Given the description of an element on the screen output the (x, y) to click on. 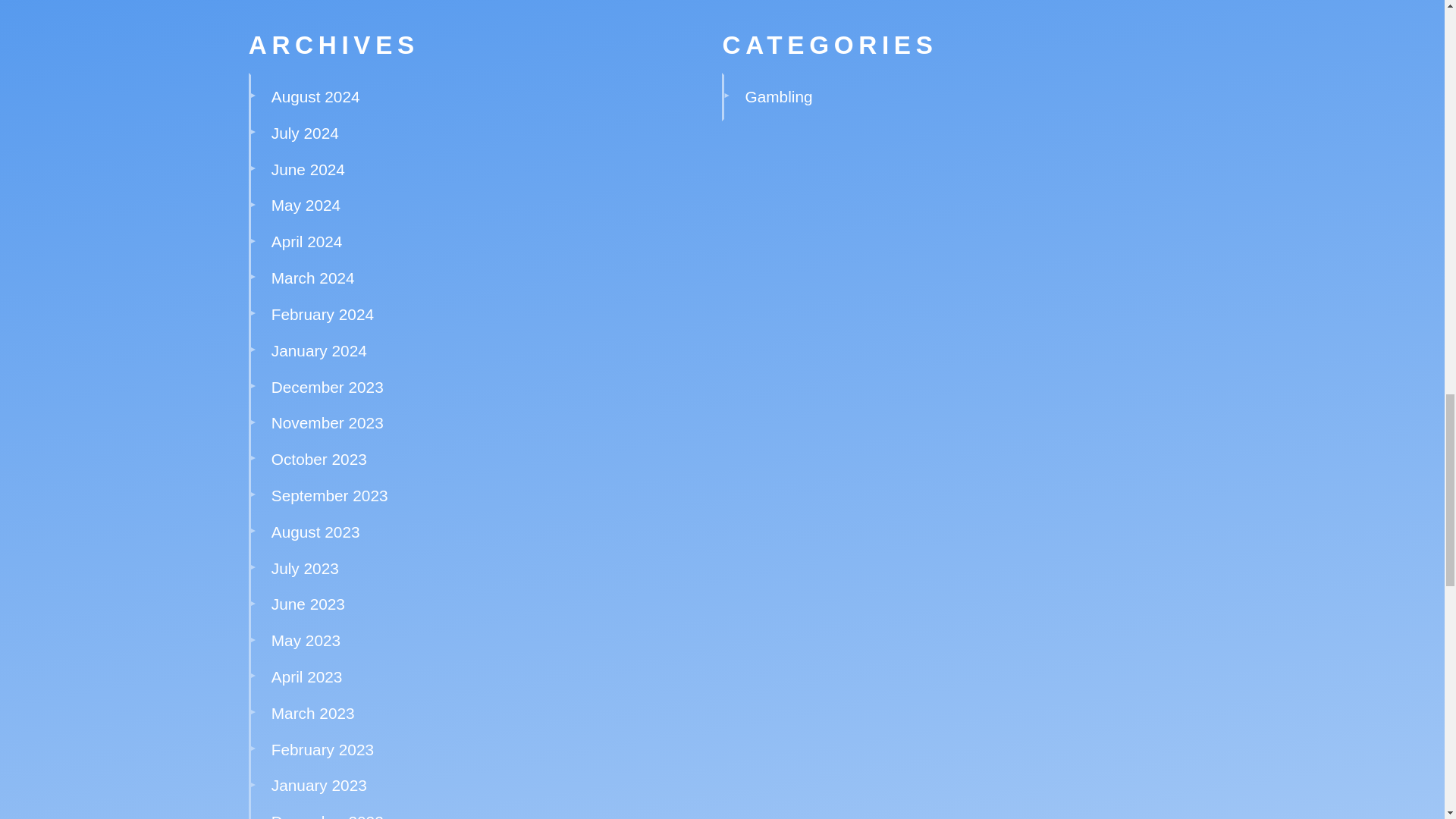
January 2023 (318, 784)
December 2022 (327, 816)
May 2023 (305, 640)
March 2023 (312, 712)
March 2024 (312, 277)
July 2024 (304, 132)
February 2023 (322, 749)
January 2024 (318, 350)
June 2023 (307, 603)
April 2023 (306, 676)
